Given the description of an element on the screen output the (x, y) to click on. 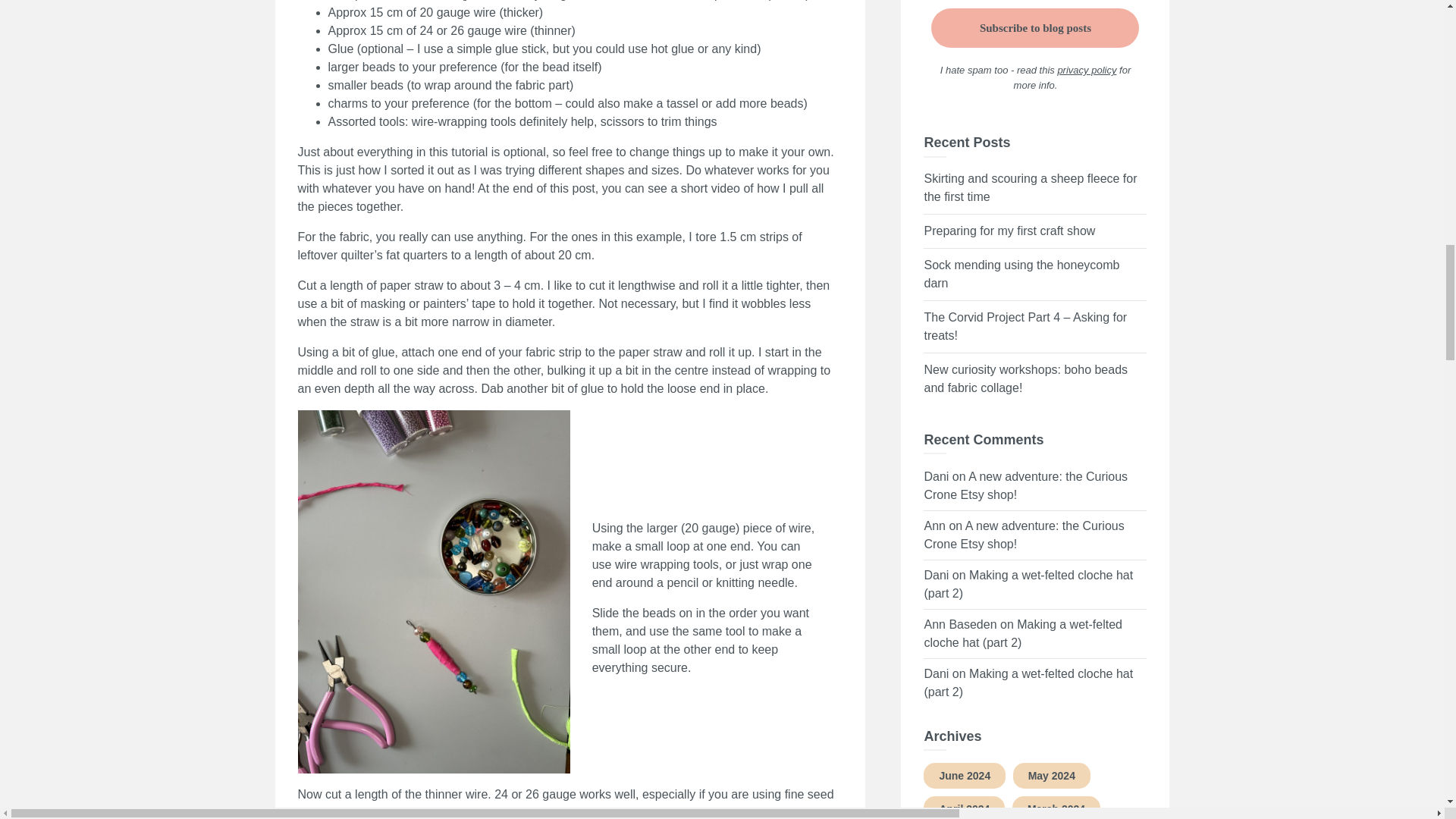
privacy policy (1086, 70)
Skirting and scouring a sheep fleece for the first time (1030, 186)
Subscribe to blog posts (1034, 28)
Preparing for my first craft show (1008, 230)
Subscribe to blog posts (1034, 28)
